Given the description of an element on the screen output the (x, y) to click on. 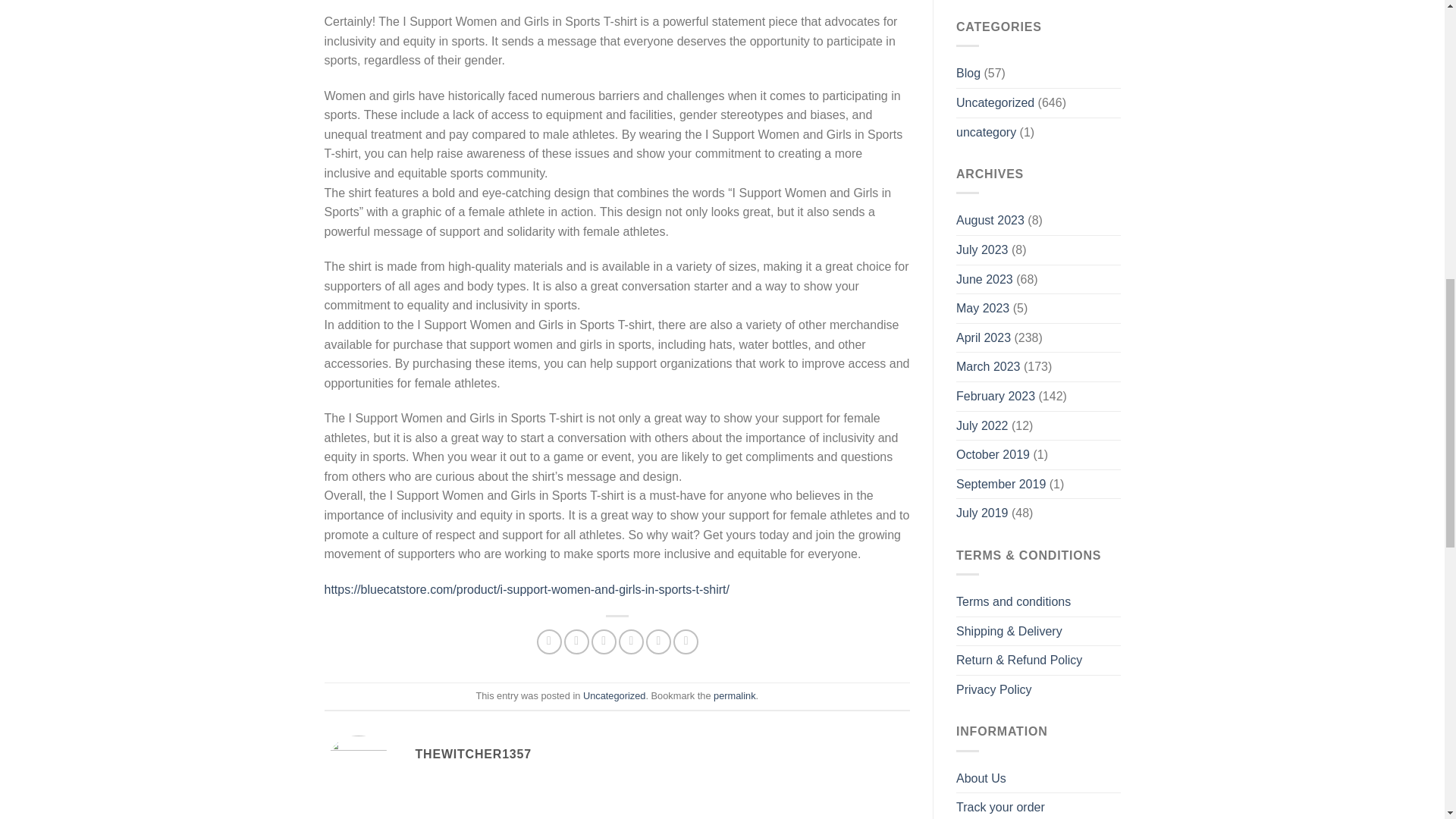
uncategory (986, 132)
July 2023 (982, 249)
Share on Tumblr (685, 641)
August 2023 (990, 220)
Uncategorized (614, 695)
Pin on Pinterest (630, 641)
Share on LinkedIn (658, 641)
May 2023 (982, 308)
Permalink to I Support Women And Girls In Sports T-shirt (734, 695)
June 2023 (984, 279)
